Given the description of an element on the screen output the (x, y) to click on. 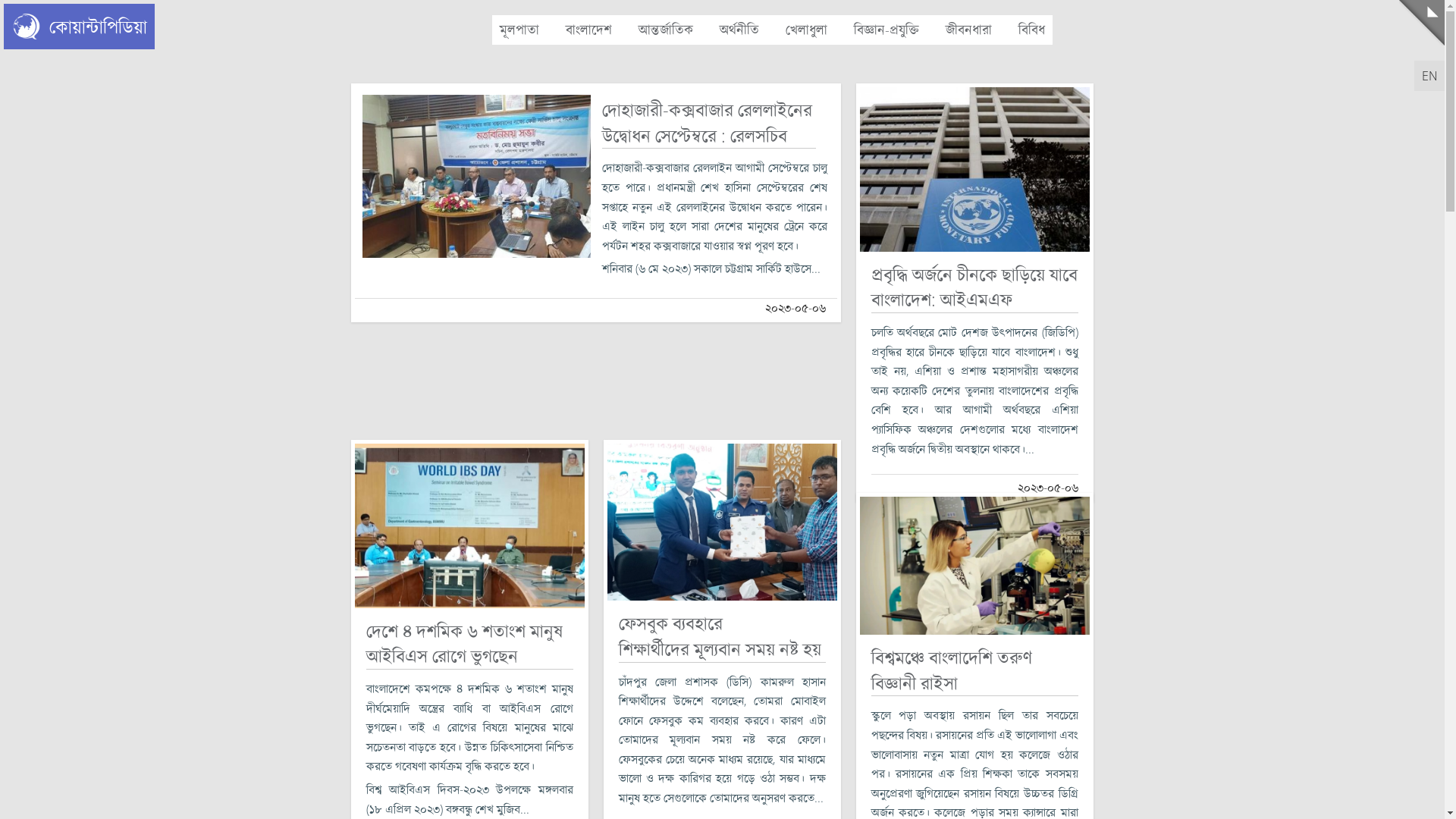
Menu Element type: hover (1421, 22)
